Given the description of an element on the screen output the (x, y) to click on. 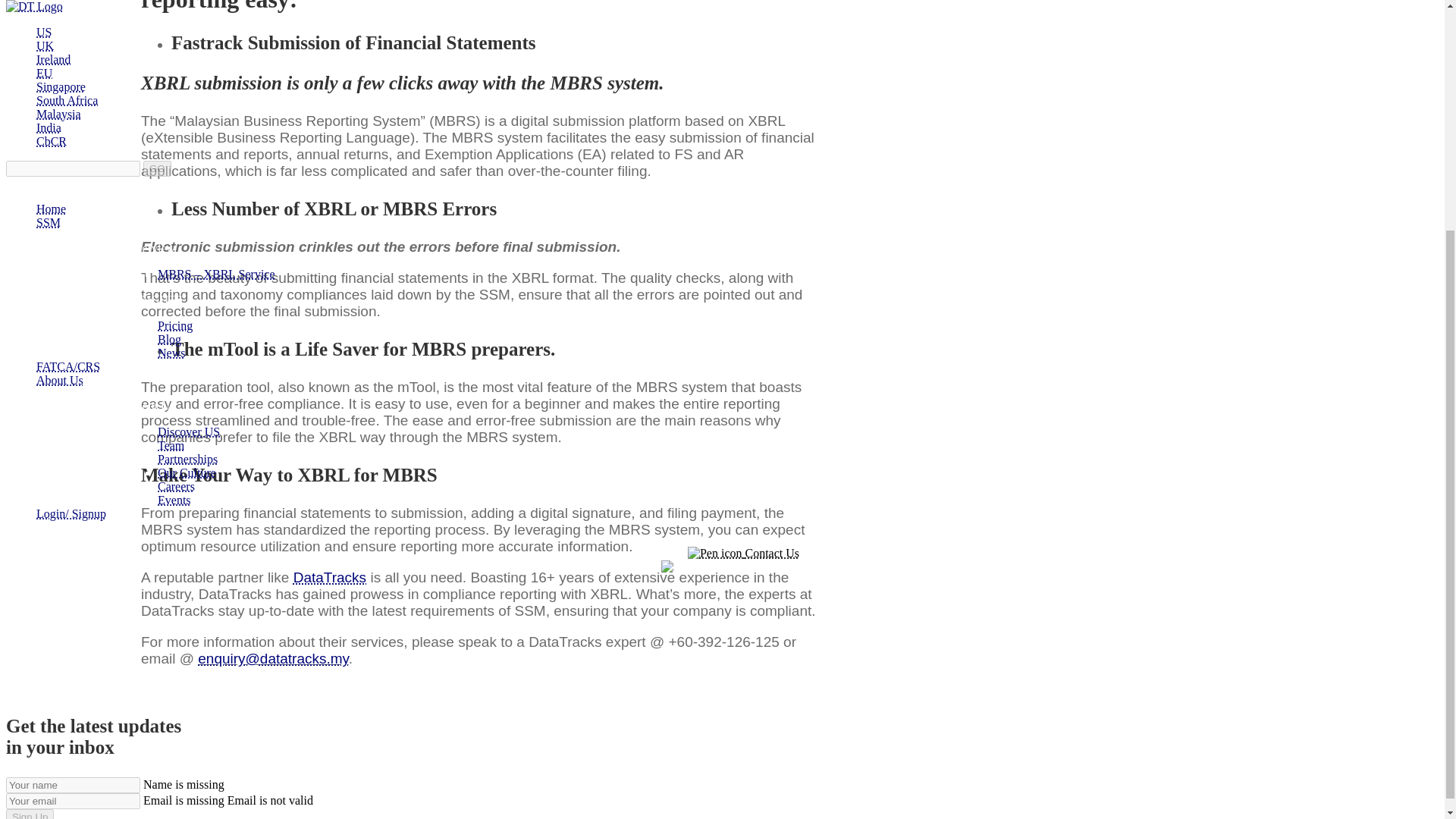
Careers (176, 169)
Team (170, 128)
Our Culture (186, 155)
Events (173, 182)
News (170, 35)
Partnerships (186, 141)
Pricing (174, 8)
Click to call (744, 249)
DataTracks (330, 577)
Contact Us (743, 236)
